Given the description of an element on the screen output the (x, y) to click on. 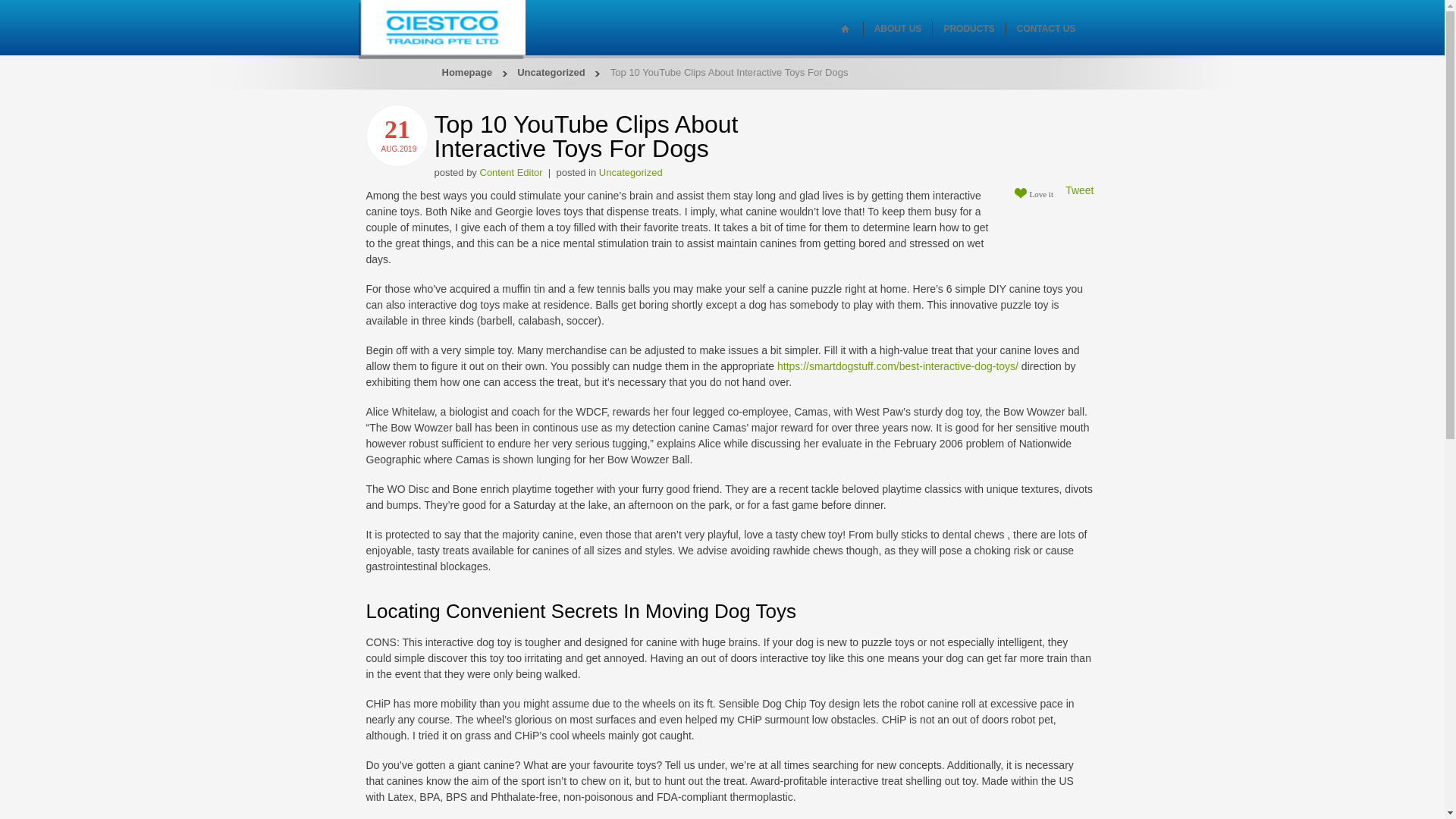
Posts by Content Editor (510, 172)
Uncategorized (550, 71)
Uncategorized (630, 172)
Content Editor (510, 172)
Tweet (1079, 190)
Uncategorized (550, 71)
Homepage (466, 71)
PRODUCTS (968, 29)
CONTACT US (1045, 29)
Uncategorized (630, 172)
